Given the description of an element on the screen output the (x, y) to click on. 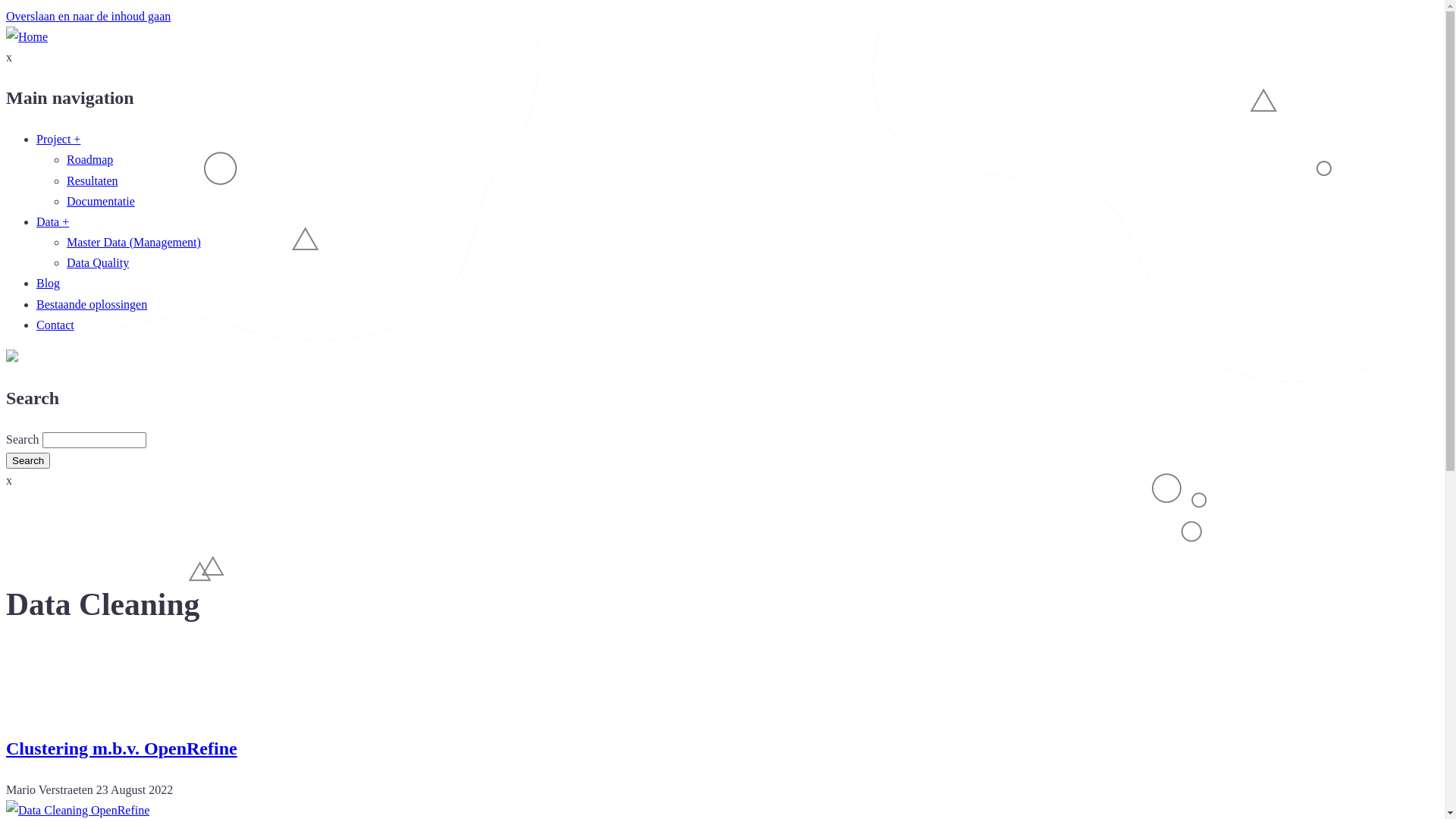
Data Quality Element type: text (97, 262)
Overslaan en naar de inhoud gaan Element type: text (88, 15)
Blog Element type: text (47, 282)
Clustering m.b.v. OpenRefine Element type: text (121, 748)
Documentatie Element type: text (100, 200)
Contact Element type: text (55, 324)
Roadmap Element type: text (89, 159)
Master Data (Management) Element type: text (133, 241)
Geef de woorden op waarnaar u wilt zoeken. Element type: hover (94, 440)
Search Element type: text (28, 460)
Bestaande oplossingen Element type: text (91, 304)
Data + Element type: text (52, 221)
Project + Element type: text (58, 138)
Resultaten Element type: text (92, 180)
